Given the description of an element on the screen output the (x, y) to click on. 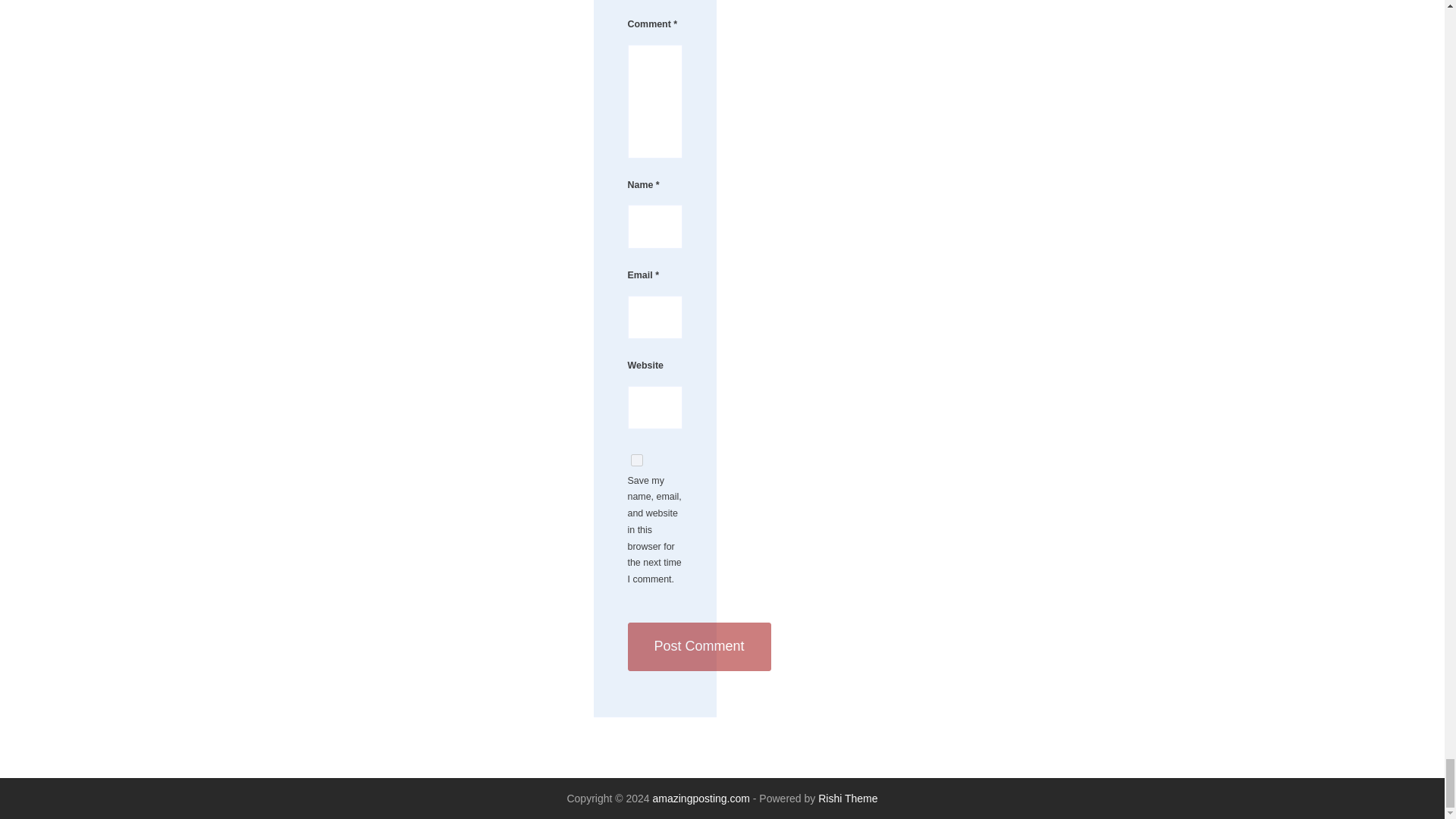
yes (636, 460)
Post Comment (699, 646)
